Given the description of an element on the screen output the (x, y) to click on. 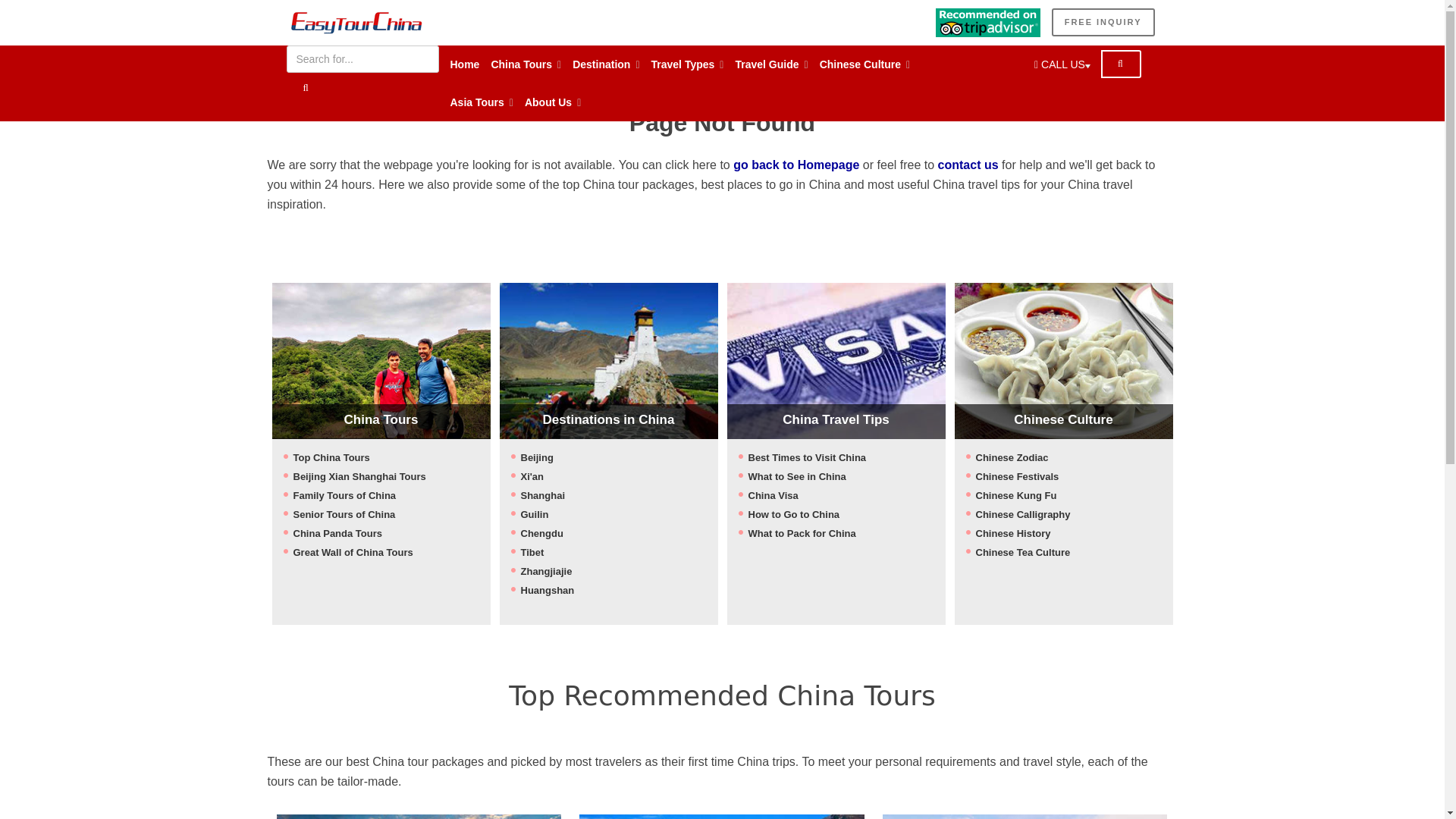
Destination (605, 64)
FREE INQUIRY (1102, 22)
Travel Types (686, 64)
China Tours (525, 64)
